Given the description of an element on the screen output the (x, y) to click on. 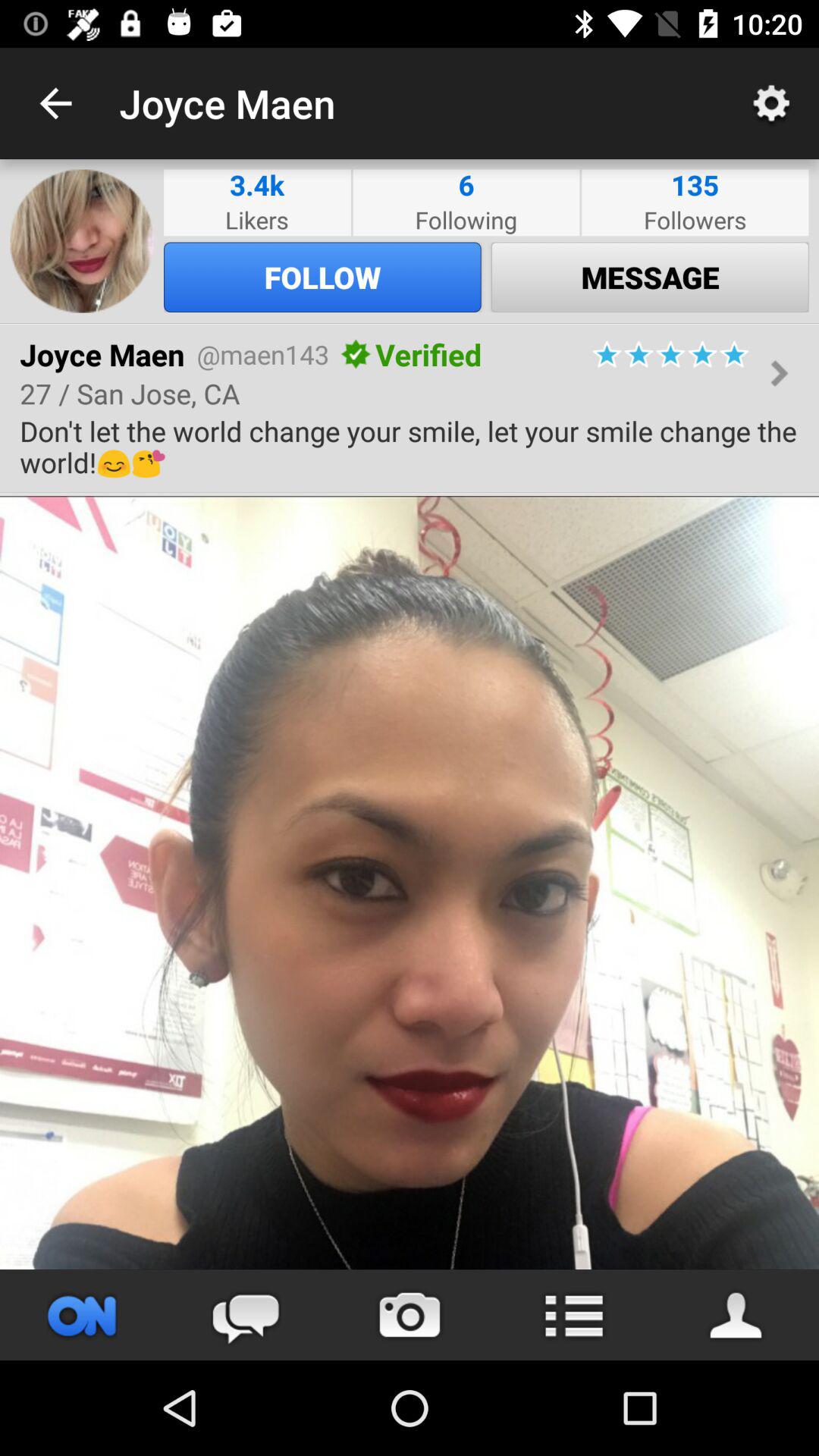
select icon next to the joyce maen item (55, 103)
